Given the description of an element on the screen output the (x, y) to click on. 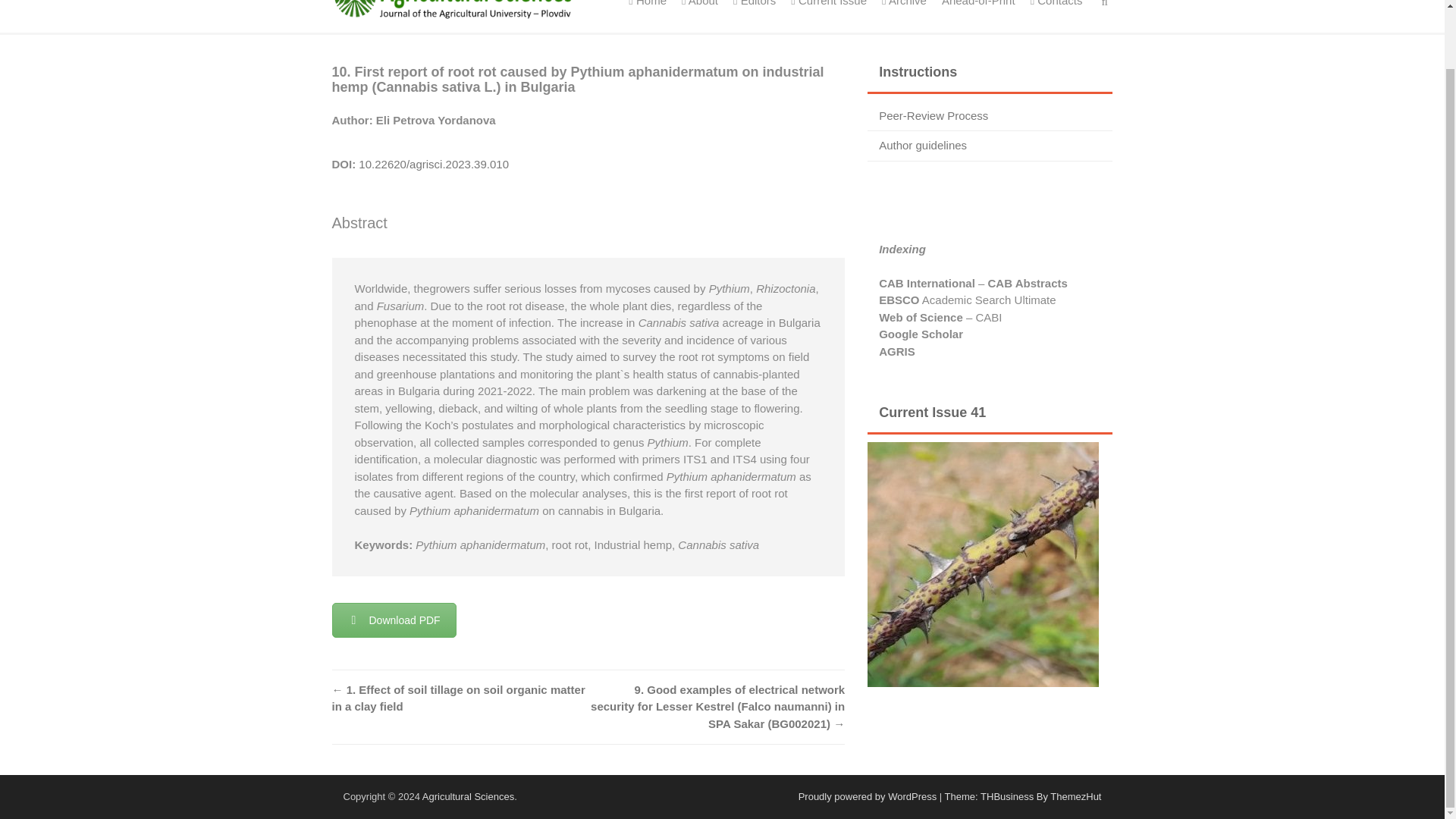
Proudly powered by WordPress (867, 796)
Contacts (1056, 17)
Agricultural Sciences (467, 796)
Rhodococcus perrornatus on oil-bearing rose branches (983, 564)
Current Issue (829, 17)
Peer-Review Process (933, 115)
Download PDF (394, 620)
Home (647, 17)
Archive (904, 17)
Author guidelines (922, 144)
Agricultural Sciences (467, 796)
Ahead-of-Print (978, 17)
About (699, 17)
Theme: THBusiness By ThemezHut (1023, 796)
